Given the description of an element on the screen output the (x, y) to click on. 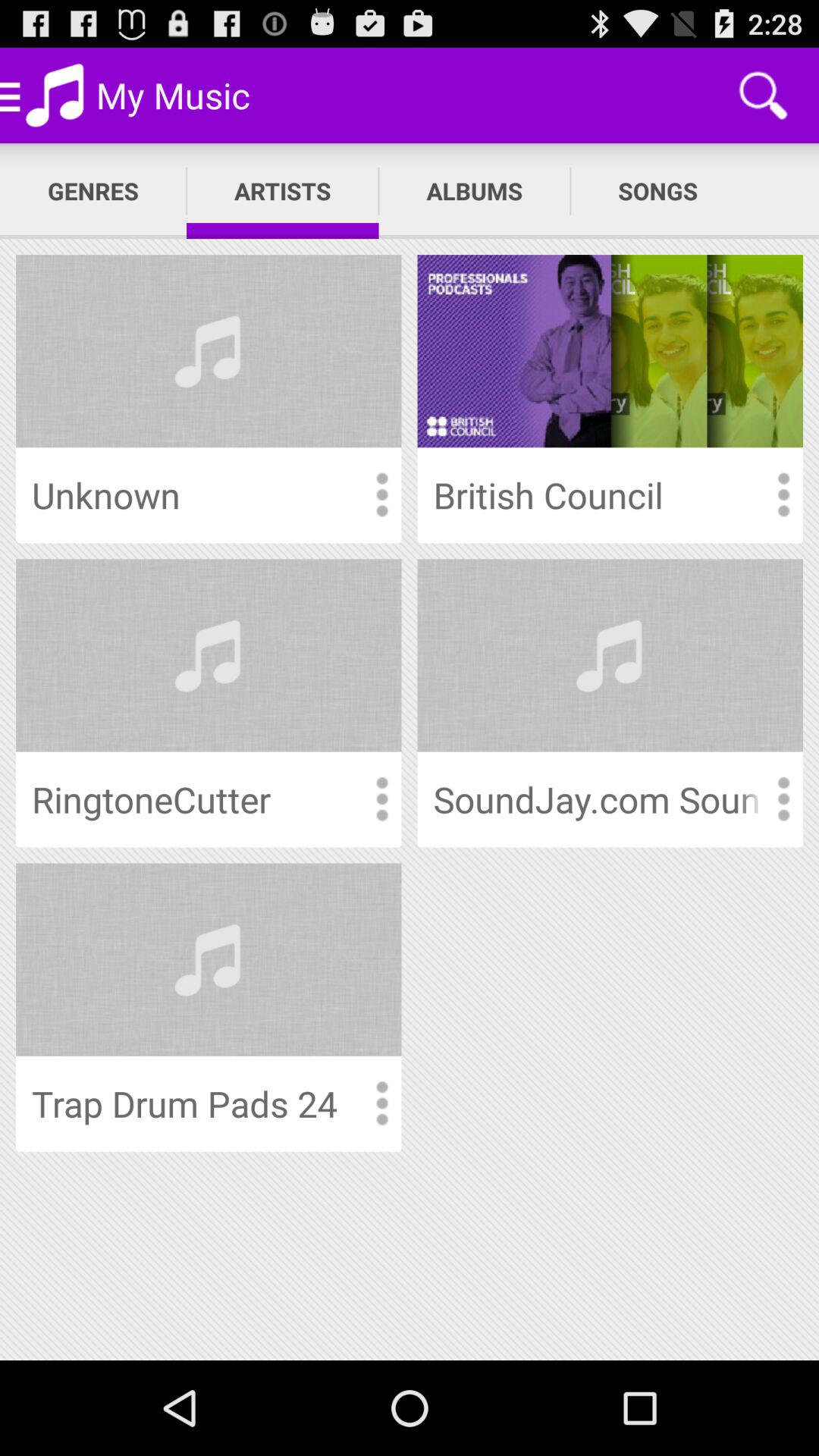
select more (783, 495)
